Given the description of an element on the screen output the (x, y) to click on. 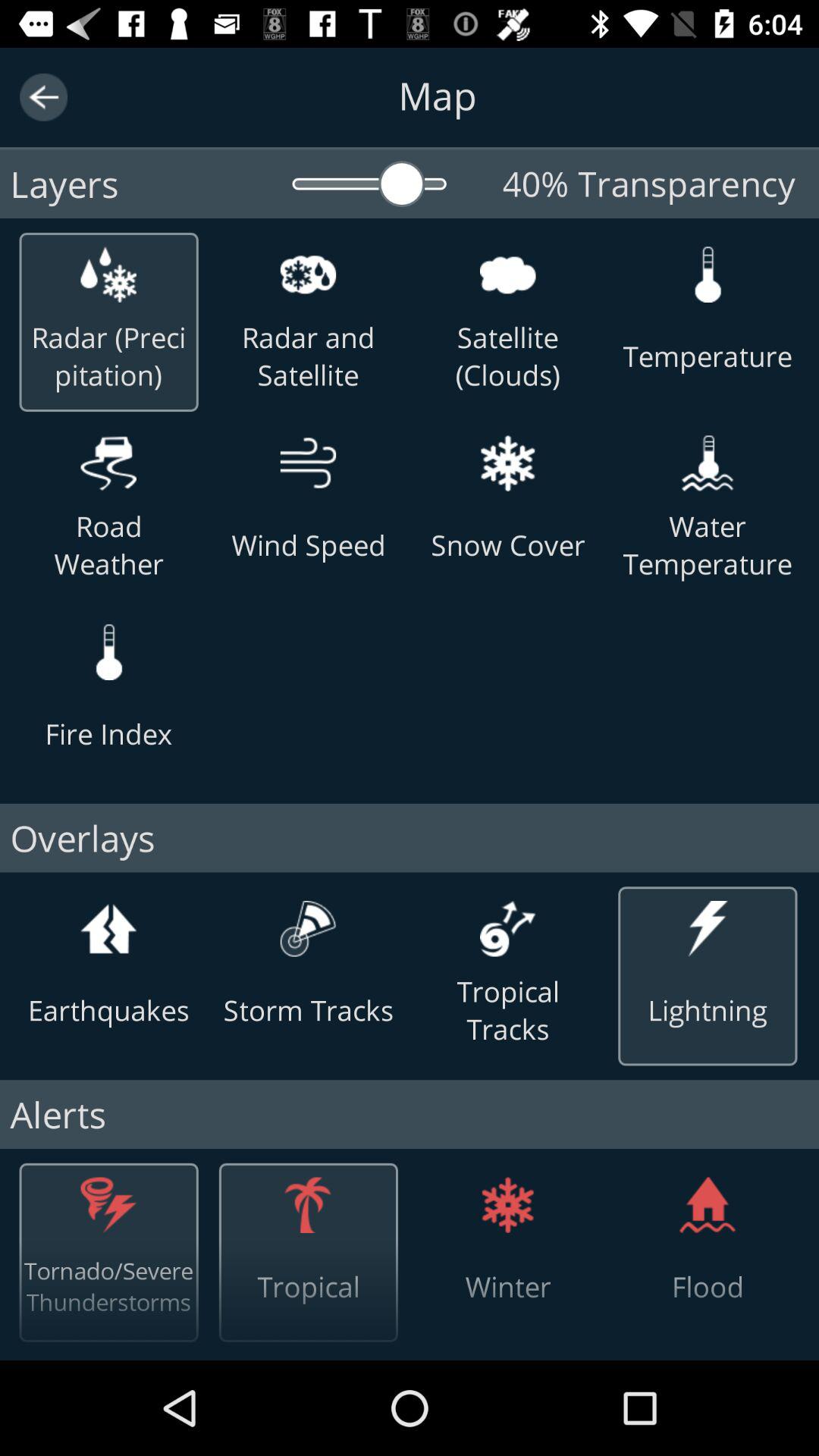
press icon to the left of the map item (43, 97)
